Given the description of an element on the screen output the (x, y) to click on. 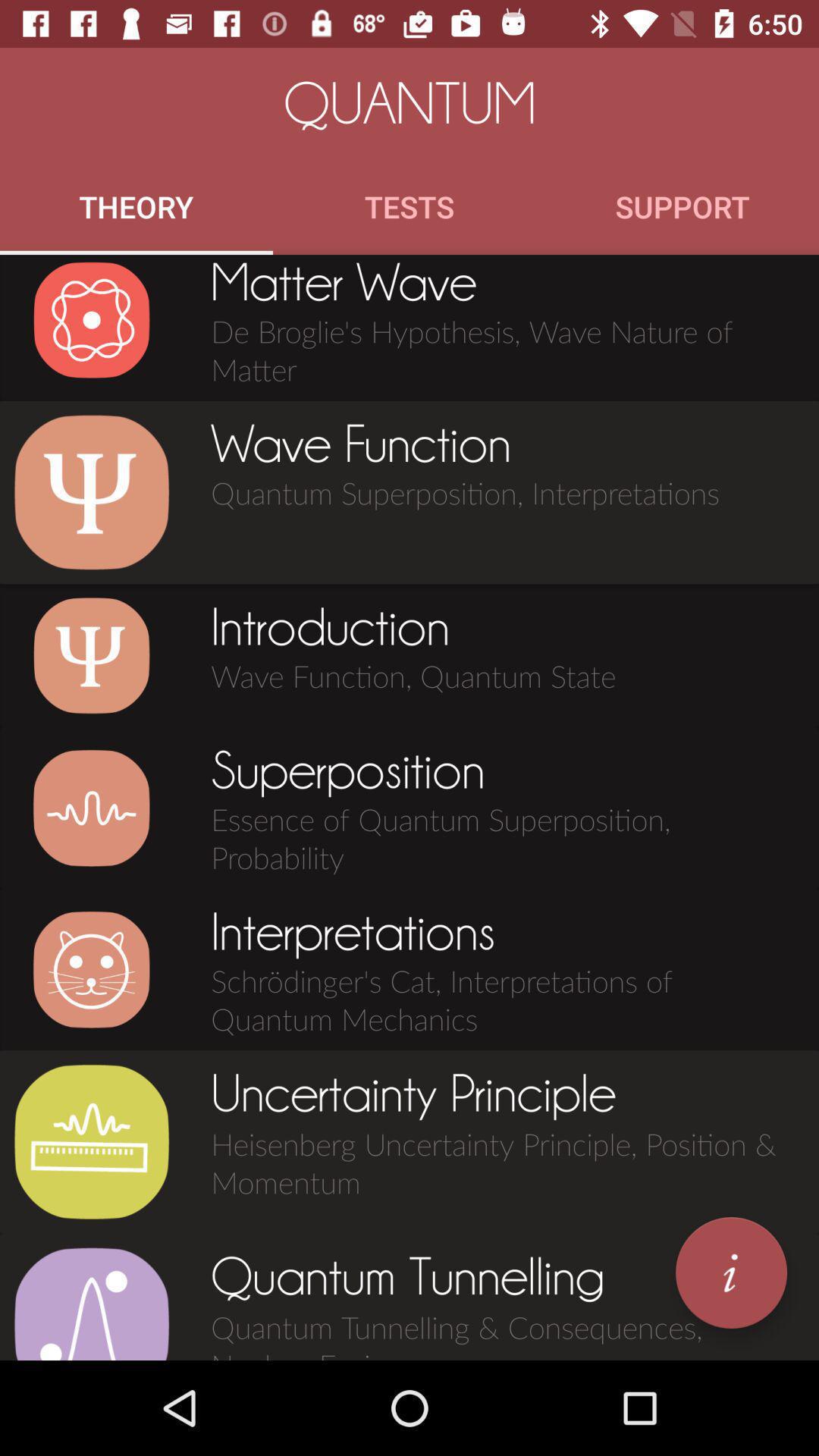
image of chapter (91, 969)
